Given the description of an element on the screen output the (x, y) to click on. 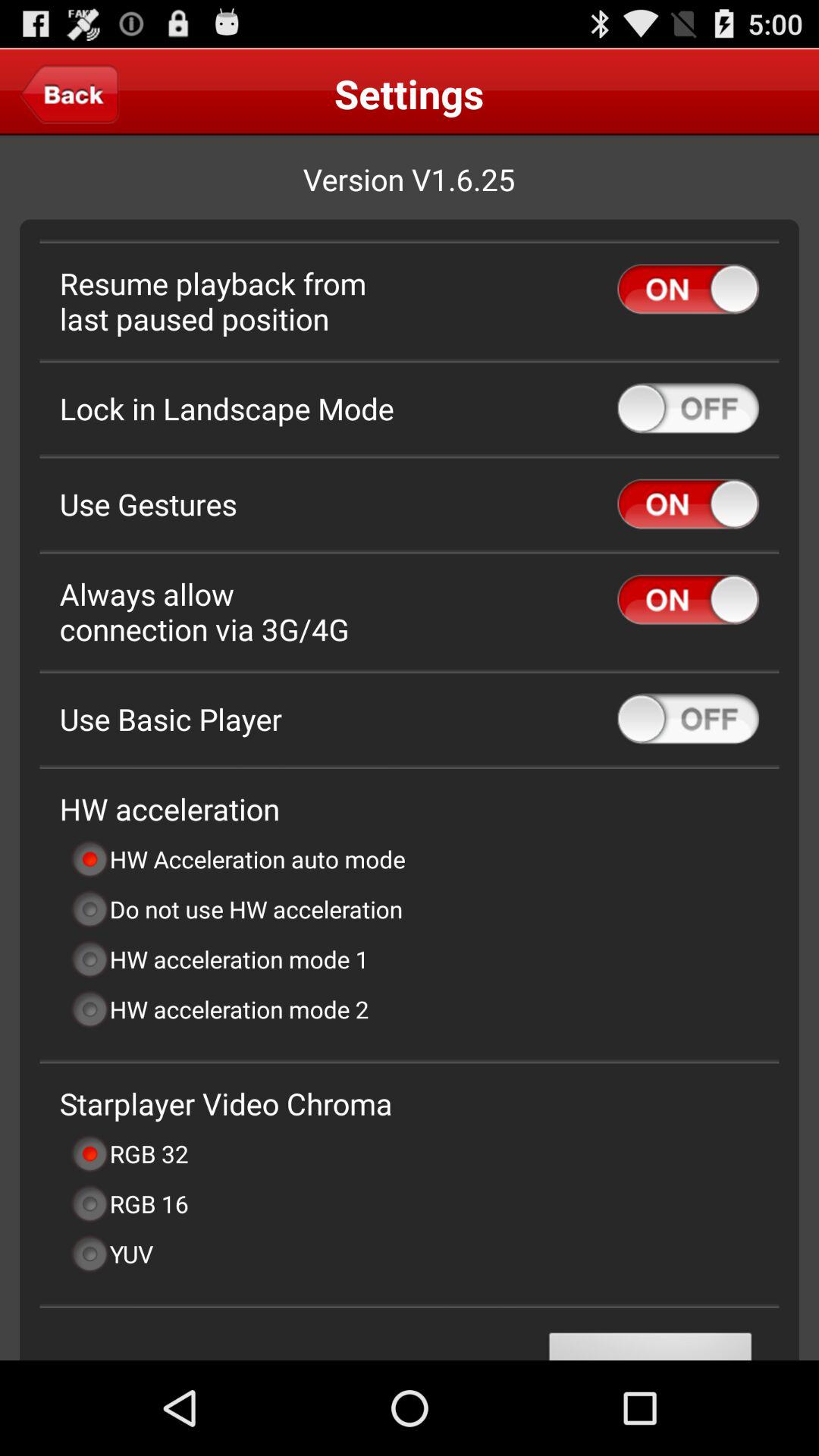
turn on rgb 16 item (128, 1203)
